Given the description of an element on the screen output the (x, y) to click on. 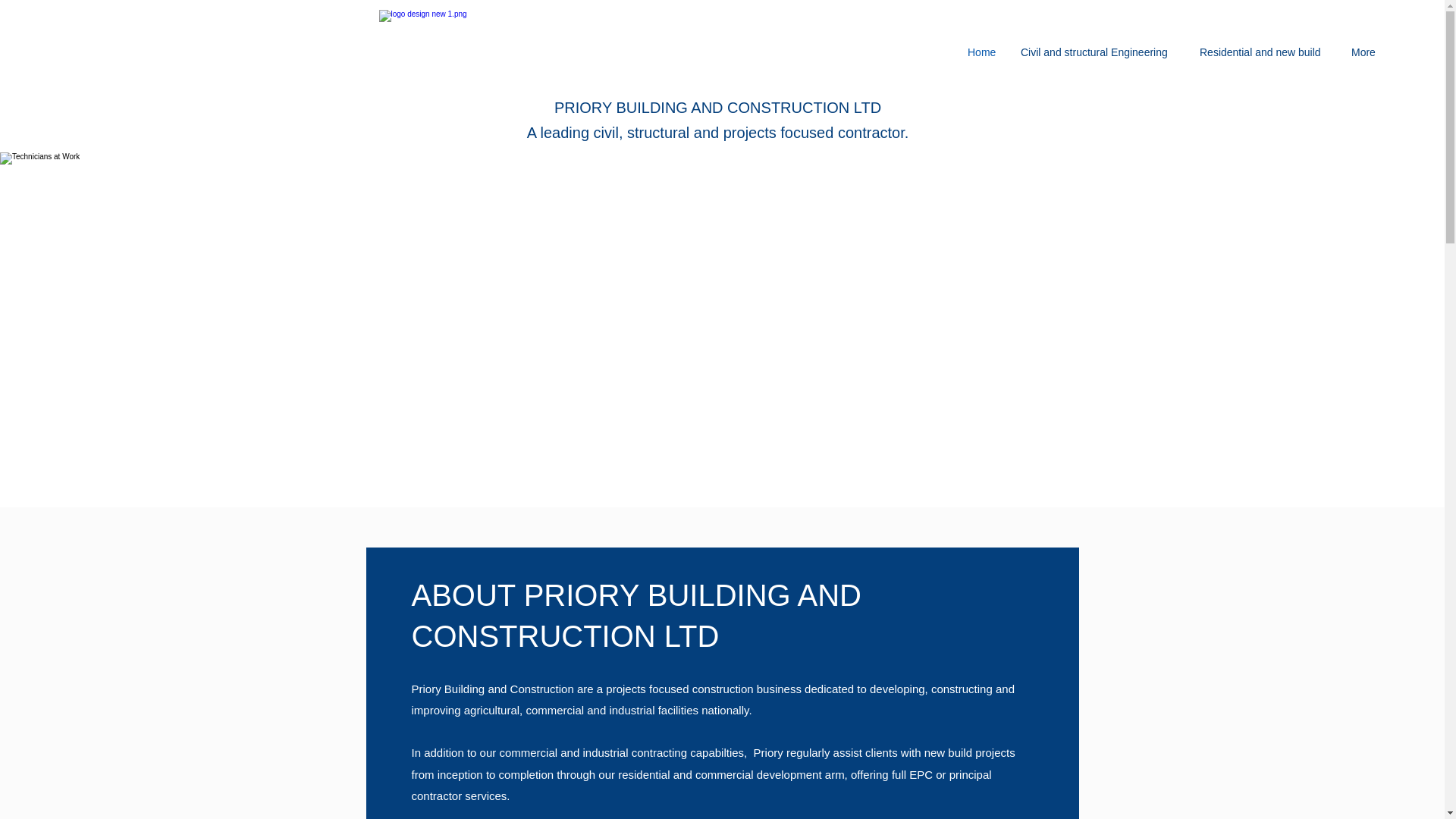
Civil and structural Engineering (1102, 51)
Home (986, 51)
Residential and new build (1267, 51)
